Given the description of an element on the screen output the (x, y) to click on. 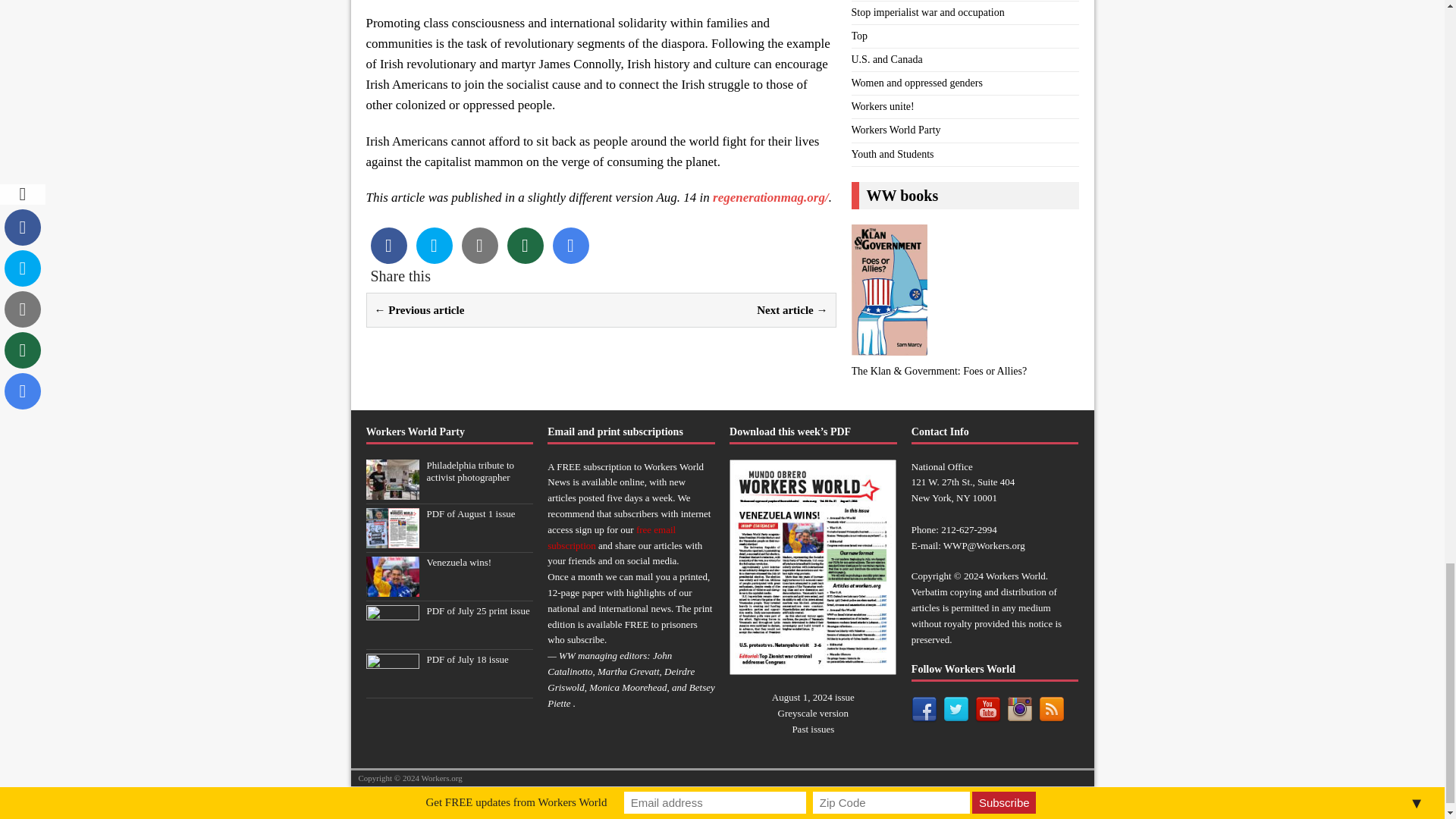
Venezuela wins! (392, 587)
PDF of July 25 print issue (477, 610)
PDF of July 25 print issue (392, 636)
PDF of July 18 issue (467, 659)
PDF of July 18 issue (392, 685)
PDF of August 1 issue (470, 513)
Venezuela wins! (459, 562)
Philadelphia tribute to activist photographer (392, 490)
PDF of August 1 issue (392, 539)
Philadelphia tribute to activist photographer (469, 471)
